Given the description of an element on the screen output the (x, y) to click on. 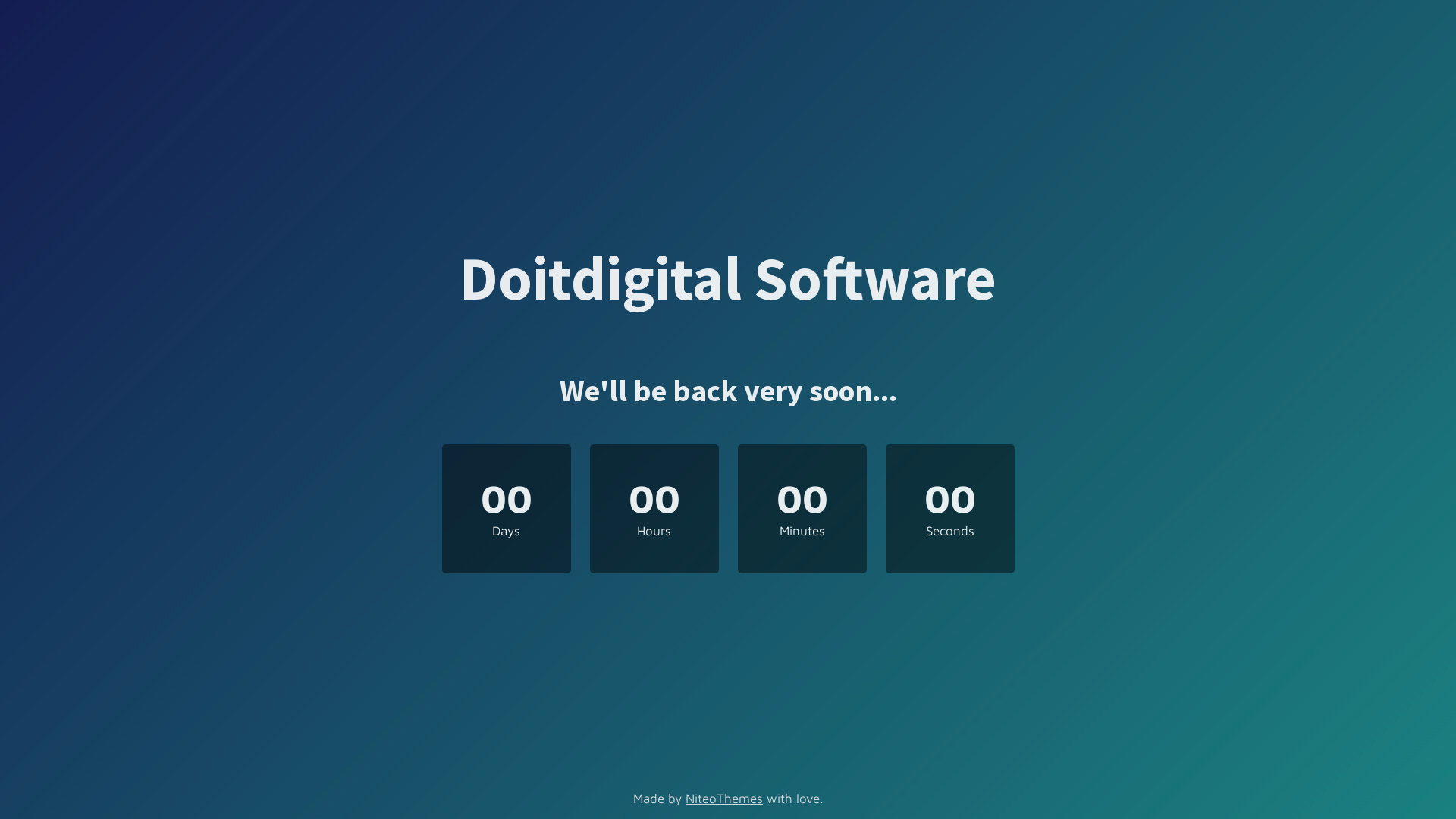
NiteoThemes Element type: text (723, 798)
Doitdigital Software Element type: text (727, 287)
